Given the description of an element on the screen output the (x, y) to click on. 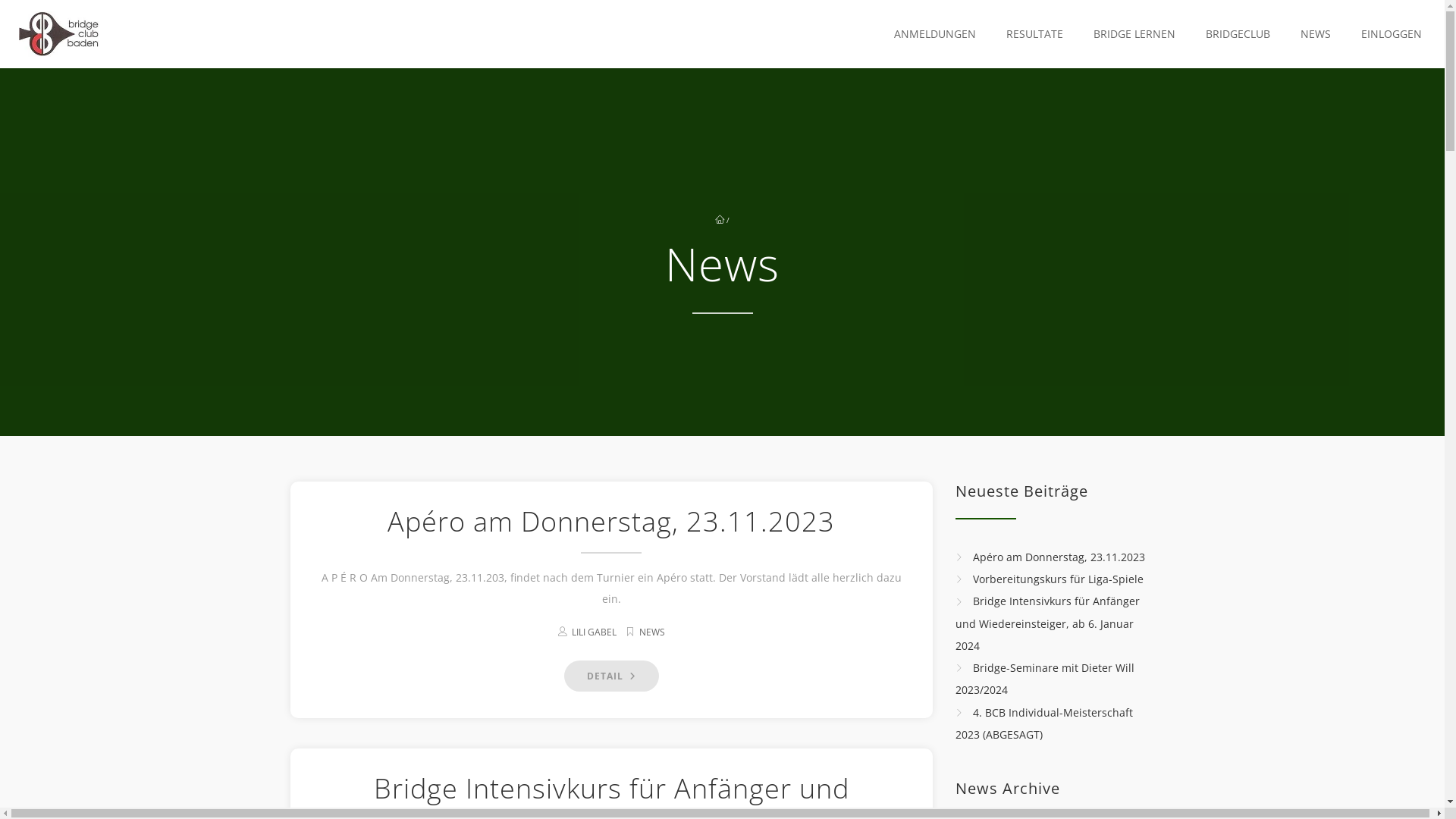
NEWS Element type: text (1311, 34)
Bridge-Seminare mit Dieter Will 2023/2024 Element type: text (1044, 678)
BRIDGE LERNEN Element type: text (1130, 34)
ANMELDUNGEN Element type: text (931, 34)
NEWS Element type: text (652, 631)
Home Element type: hover (58, 34)
4. BCB Individual-Meisterschaft 2023 (ABGESAGT) Element type: text (1043, 723)
EINLOGGEN Element type: text (1387, 34)
DETAIL Element type: text (611, 675)
RESULTATE Element type: text (1030, 34)
BRIDGECLUB Element type: text (1233, 34)
LILI GABEL Element type: text (593, 631)
